Given the description of an element on the screen output the (x, y) to click on. 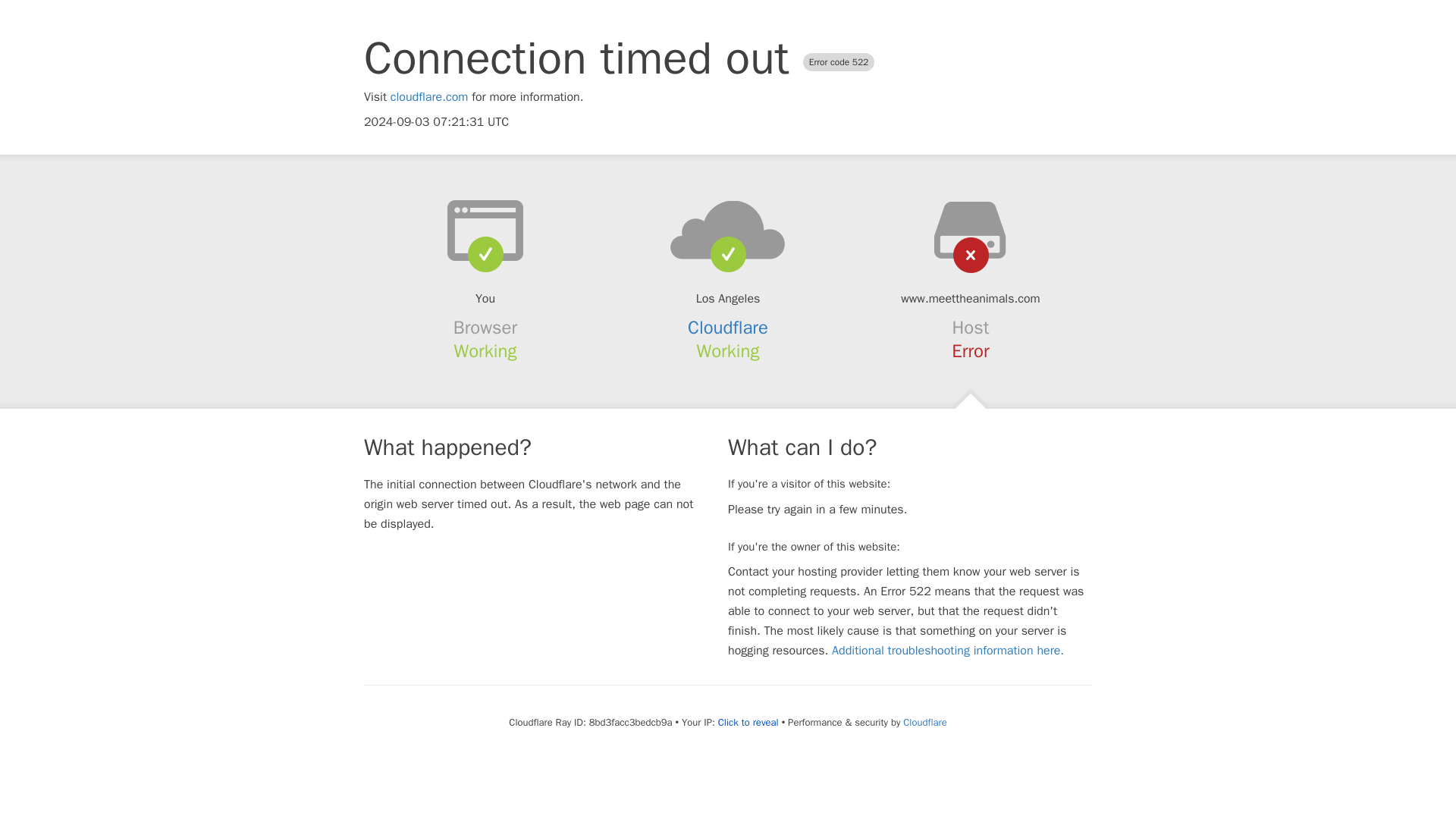
Additional troubleshooting information here. (947, 650)
cloudflare.com (429, 96)
Cloudflare (727, 327)
Click to reveal (747, 722)
Cloudflare (924, 721)
